Given the description of an element on the screen output the (x, y) to click on. 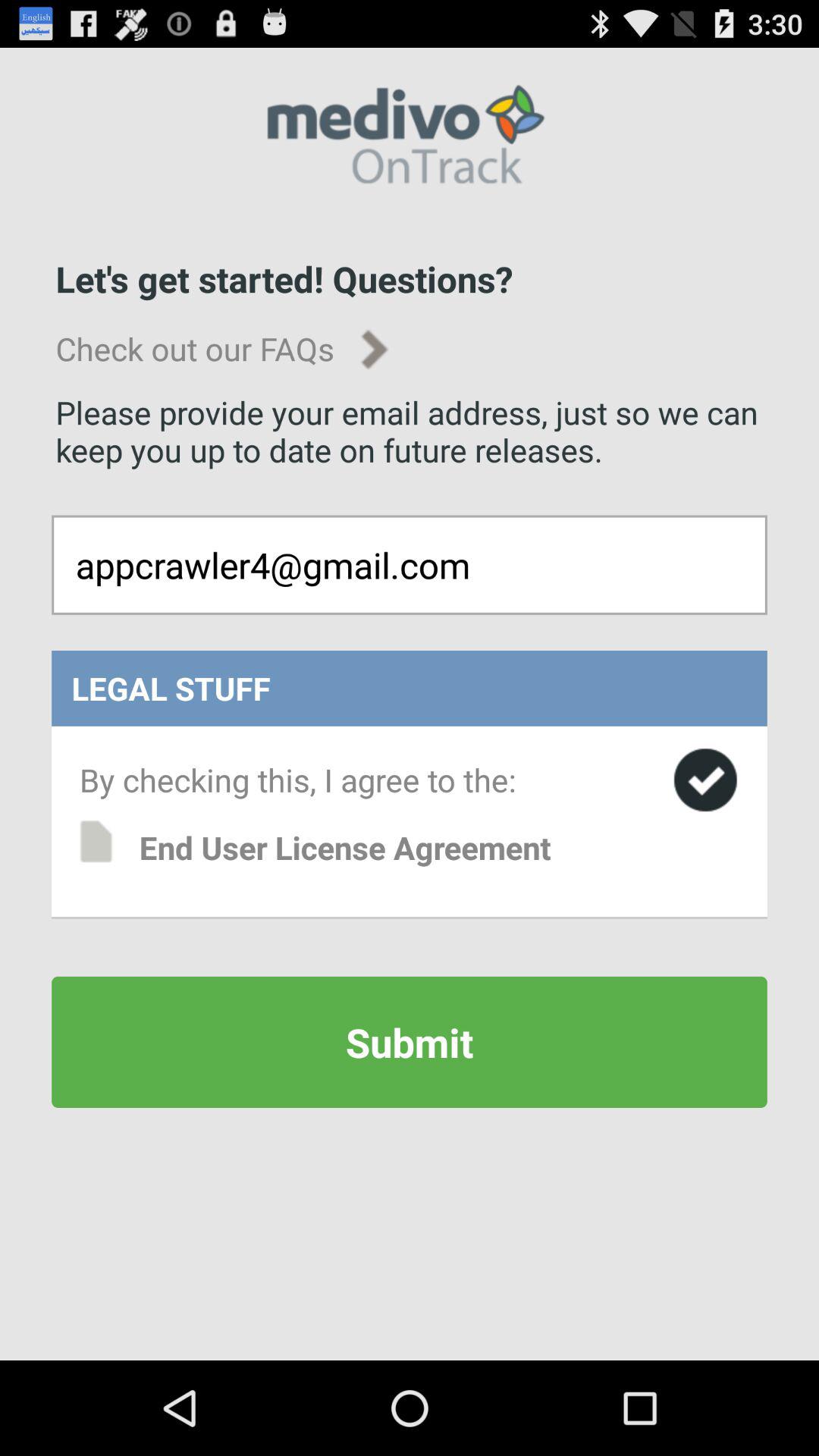
give agreement (705, 779)
